Given the description of an element on the screen output the (x, y) to click on. 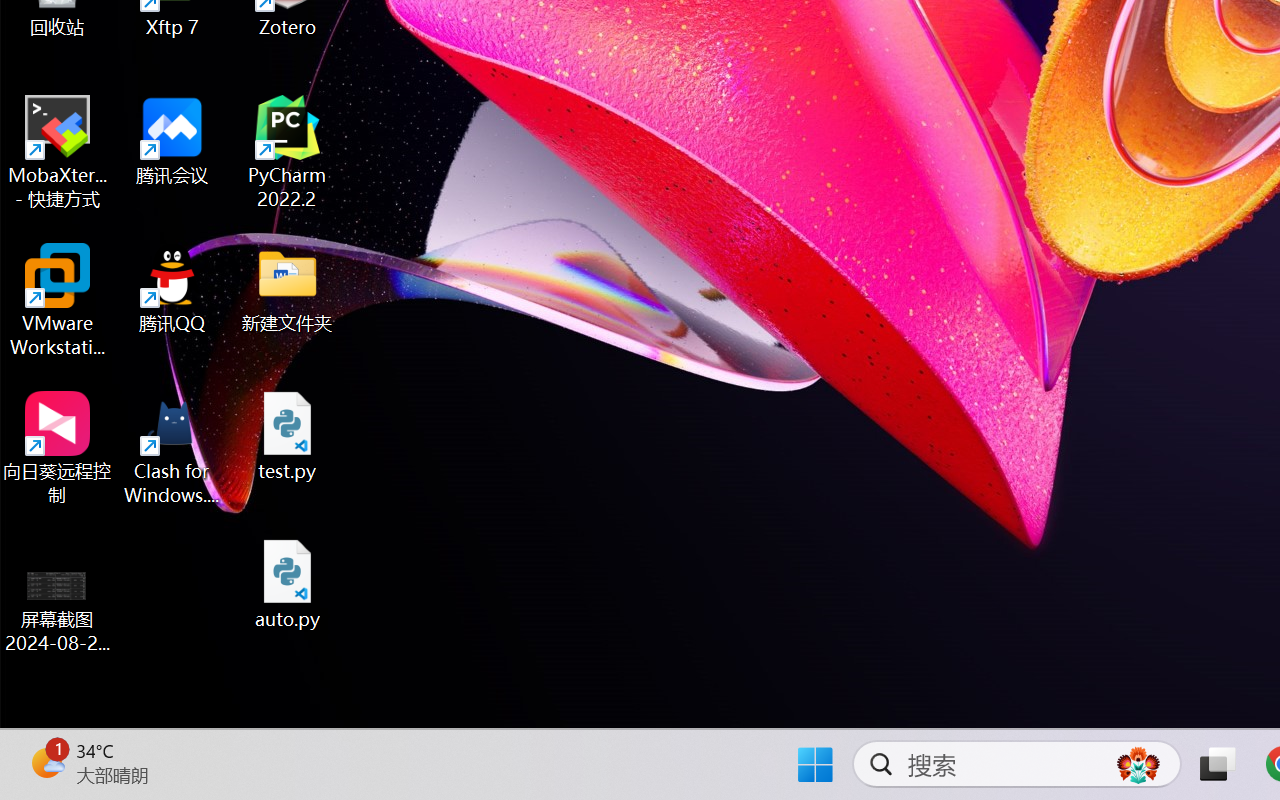
test.py (287, 436)
VMware Workstation Pro (57, 300)
